Given the description of an element on the screen output the (x, y) to click on. 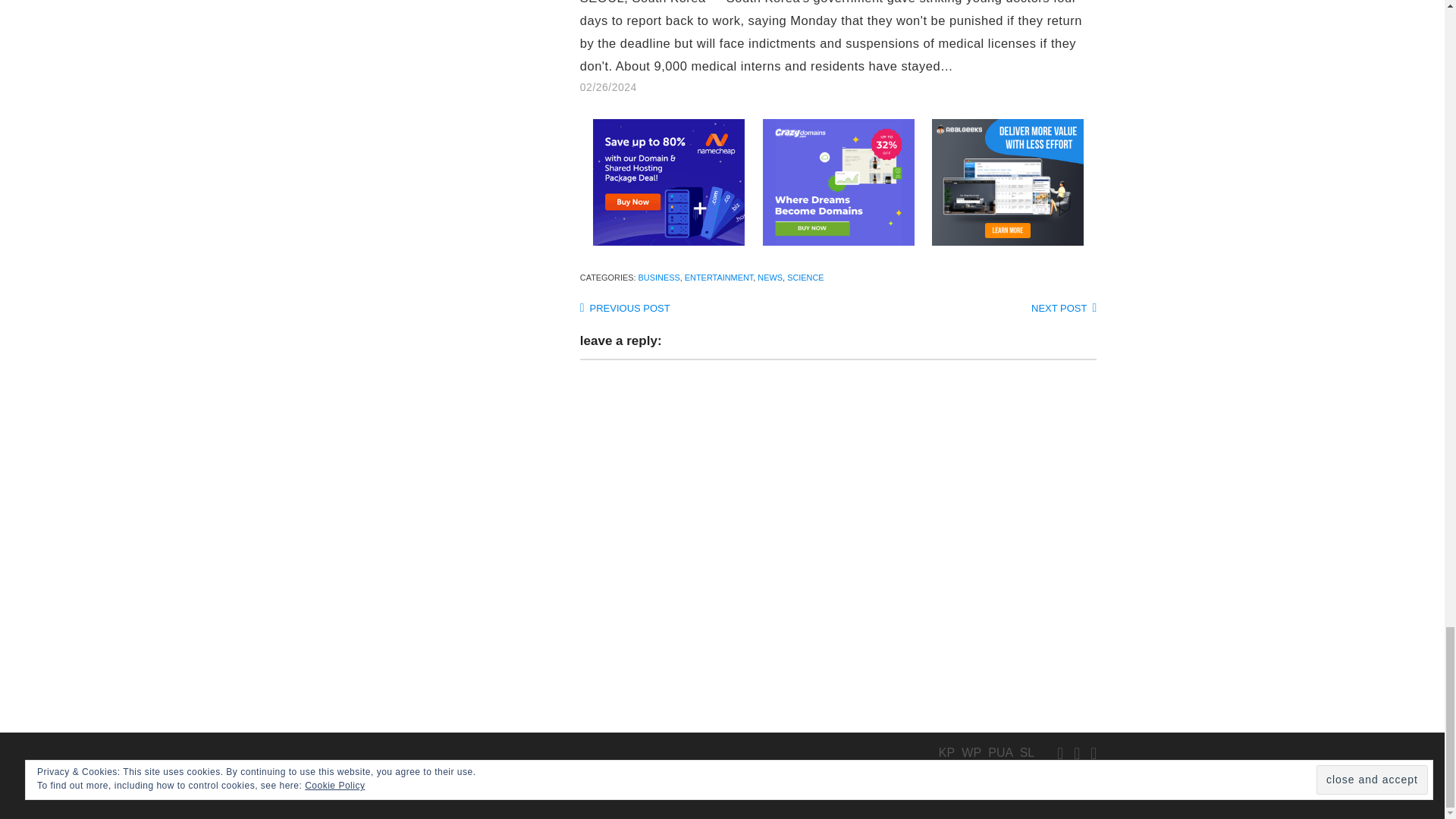
BUSINESS (659, 276)
NEWS (770, 276)
NEXT POST (1063, 307)
ENTERTAINMENT (719, 276)
PREVIOUS POST (624, 307)
SCIENCE (805, 276)
